Given the description of an element on the screen output the (x, y) to click on. 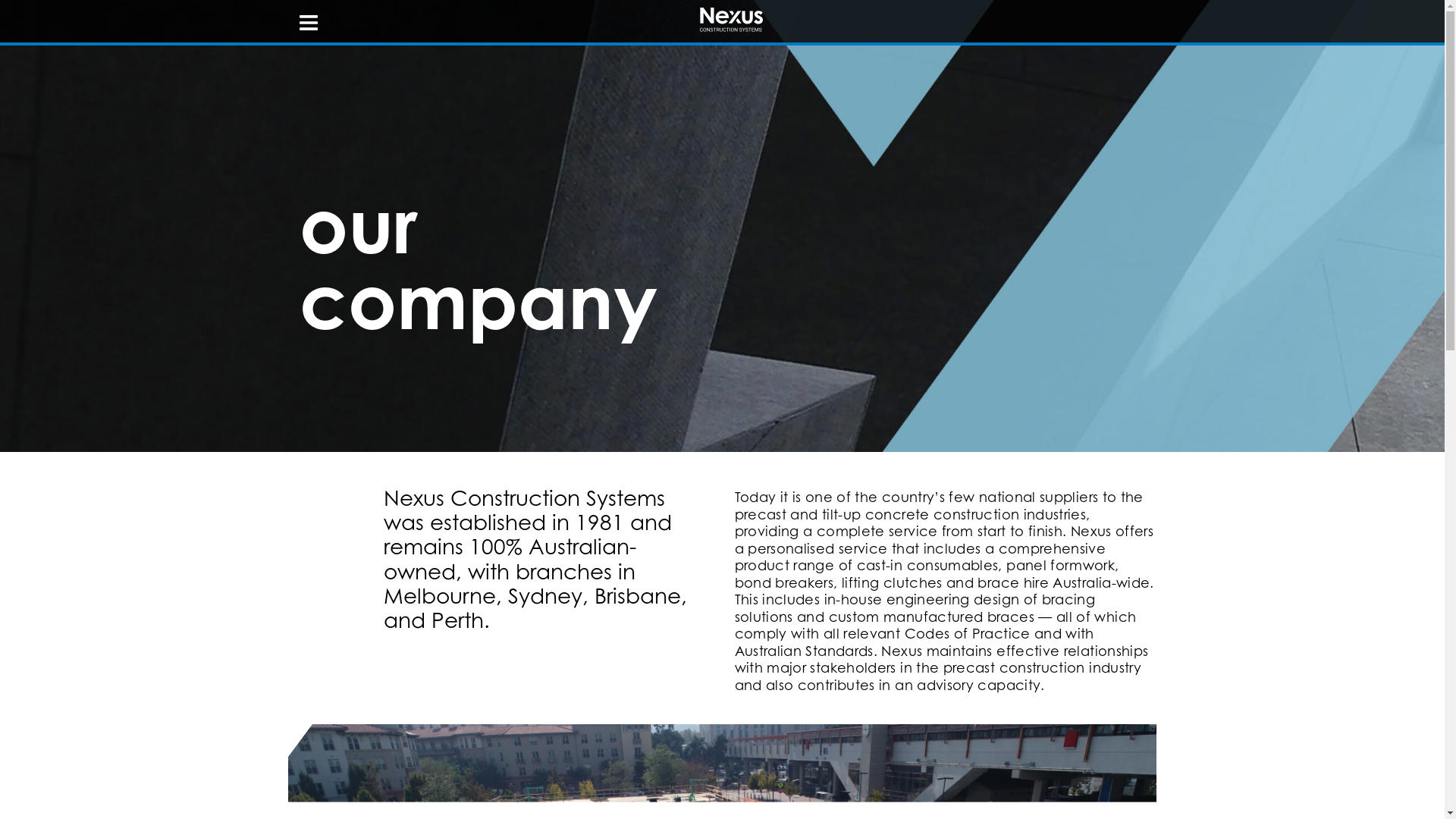
our-company Element type: hover (722, 225)
